Given the description of an element on the screen output the (x, y) to click on. 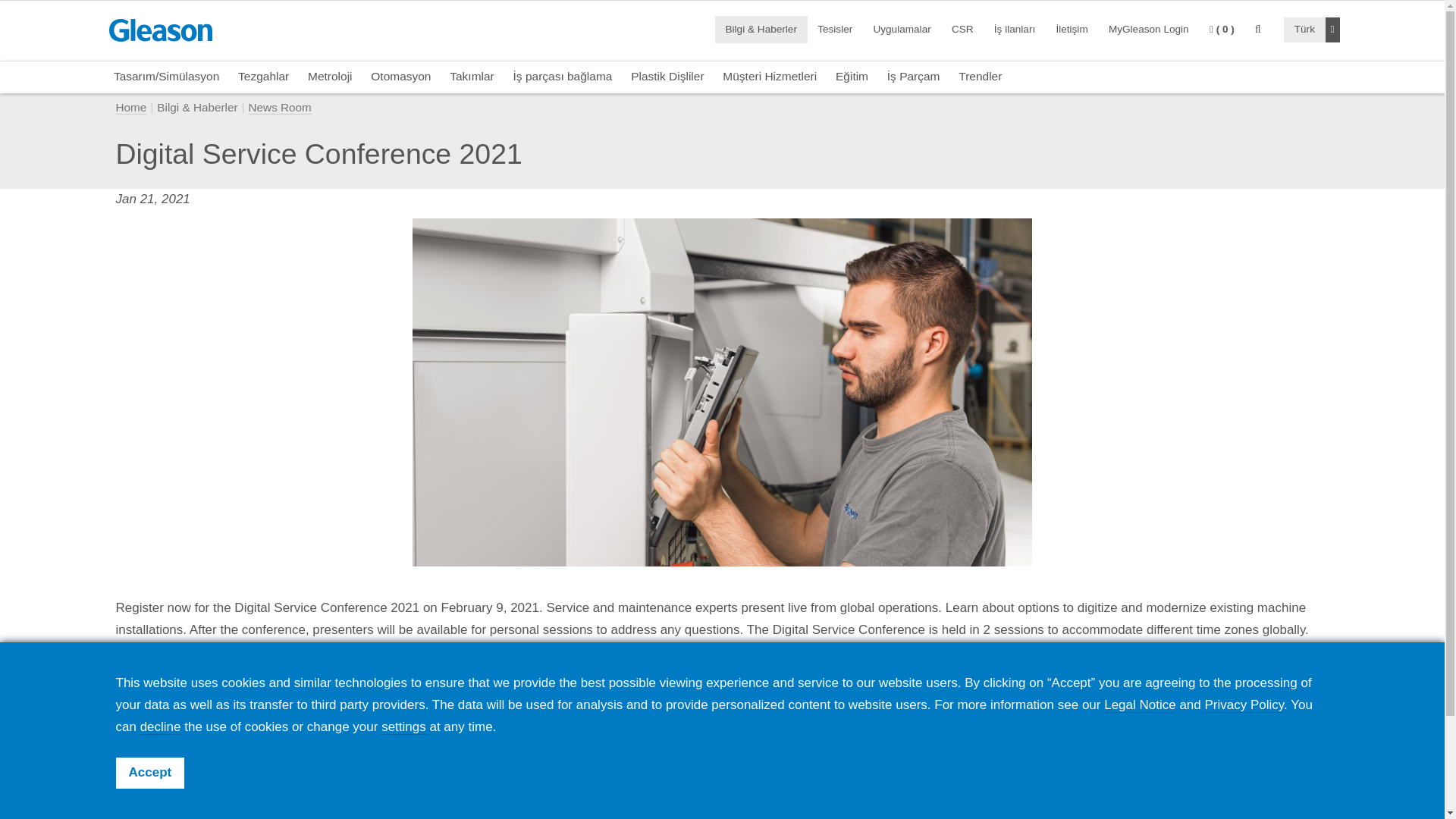
Line (1309, 812)
News Feed (1082, 812)
YouTube (1233, 812)
Instagram (1271, 812)
LinkedIn (1158, 812)
Twitter (1195, 812)
Facebook (1120, 812)
